Given the description of an element on the screen output the (x, y) to click on. 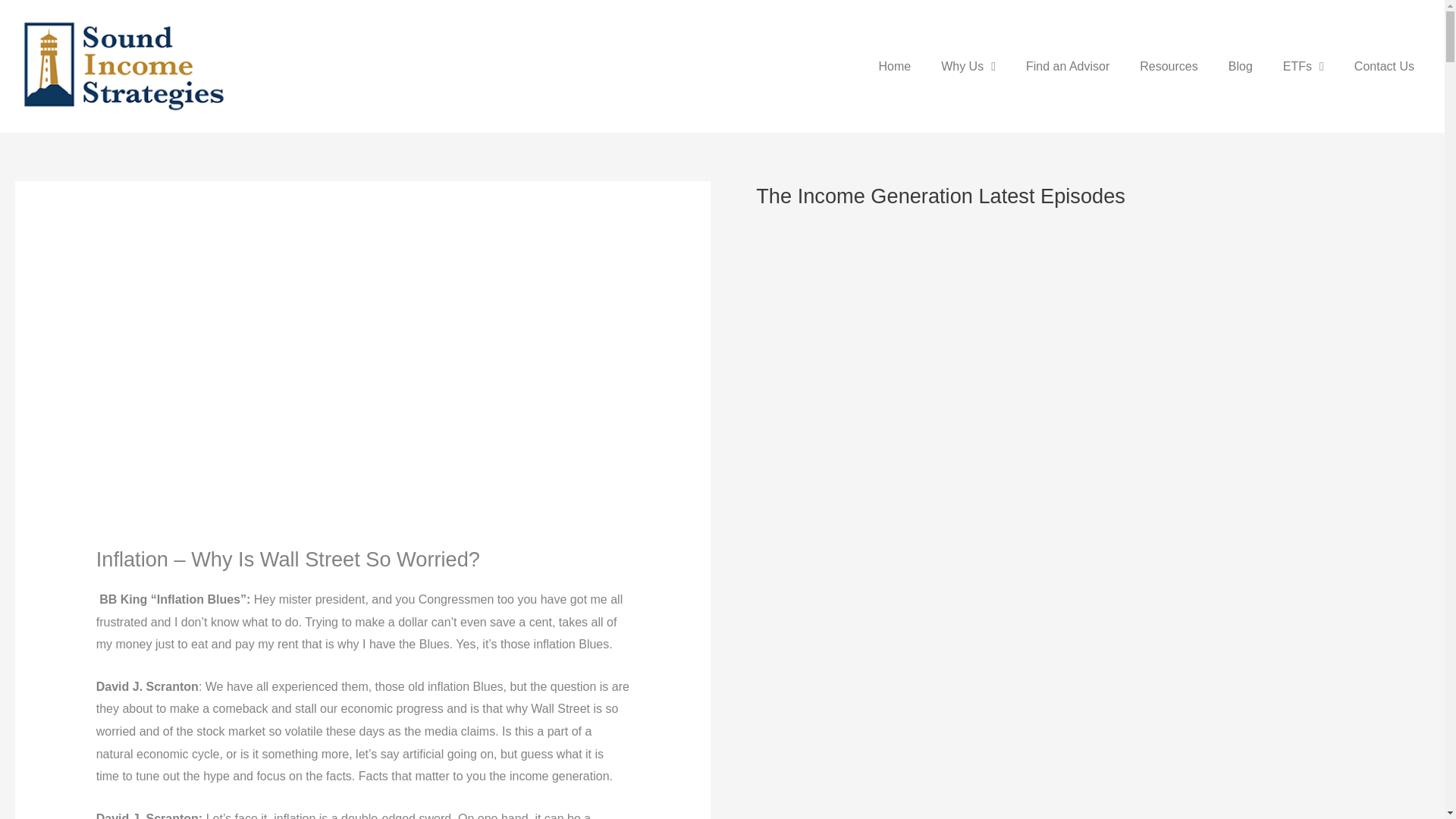
Blog (1240, 66)
Home (894, 66)
Why Us (968, 66)
Find an Advisor (1067, 66)
ETFs (1303, 66)
Resources (1168, 66)
Contact Us (1384, 66)
